Given the description of an element on the screen output the (x, y) to click on. 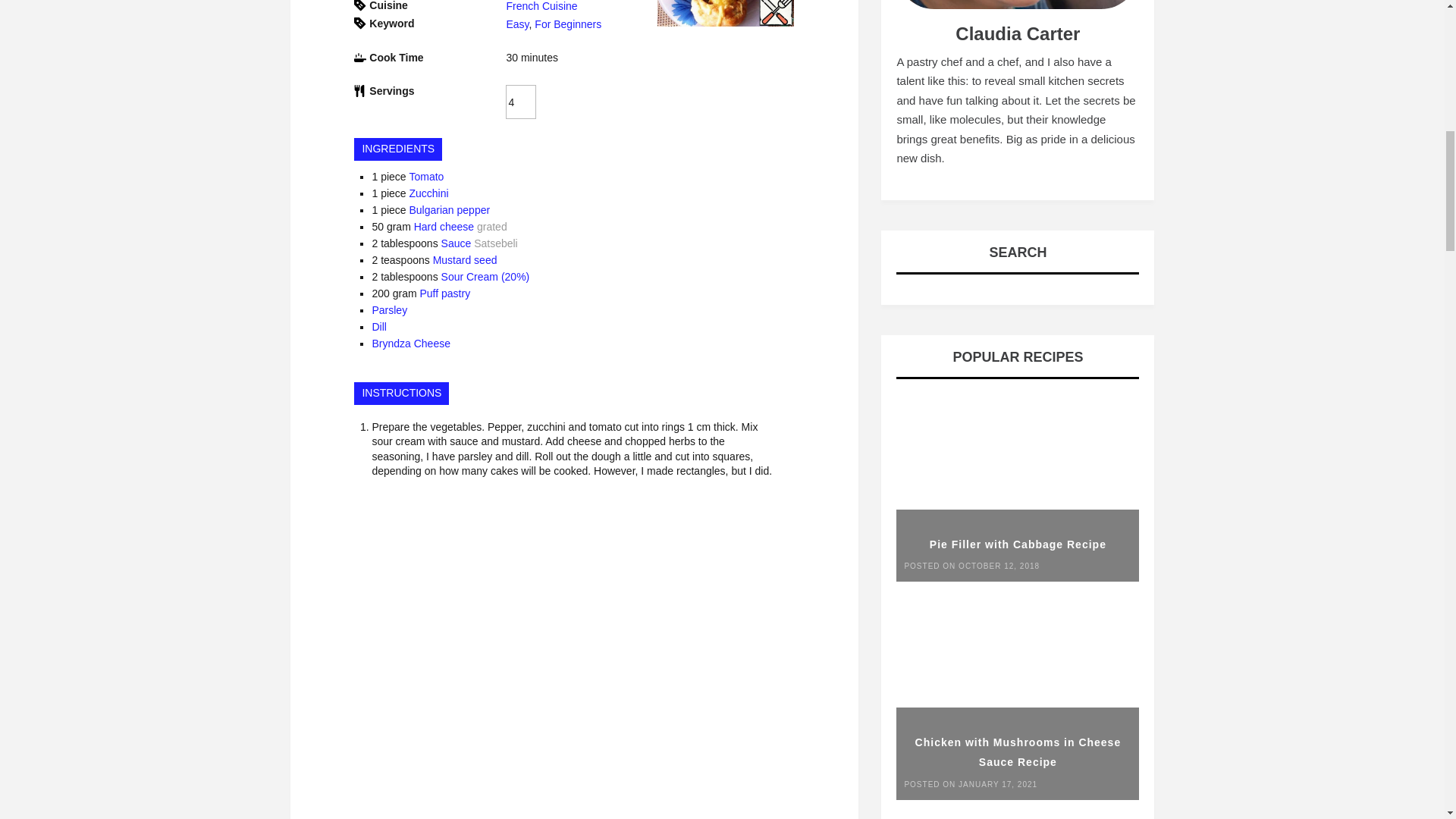
Vegetable Snack "Express Breakfast" Recipe (725, 13)
Vegetable Snack "Express Breakfast" Recipe (725, 22)
